Given the description of an element on the screen output the (x, y) to click on. 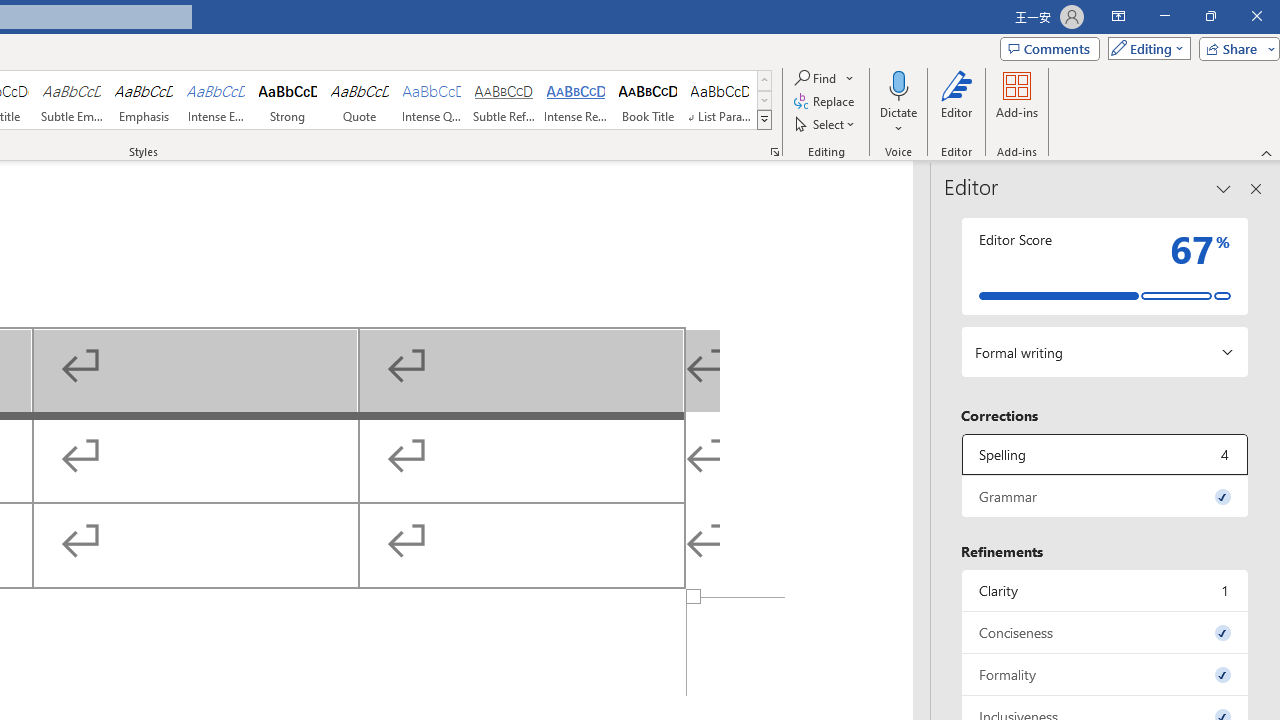
Spelling, 4 issues. Press space or enter to review items. (1105, 454)
Intense Reference (575, 100)
Styles... (774, 151)
Subtle Reference (504, 100)
Editing (1144, 47)
Editor Score 67% (1105, 266)
Intense Emphasis (216, 100)
Book Title (647, 100)
